Given the description of an element on the screen output the (x, y) to click on. 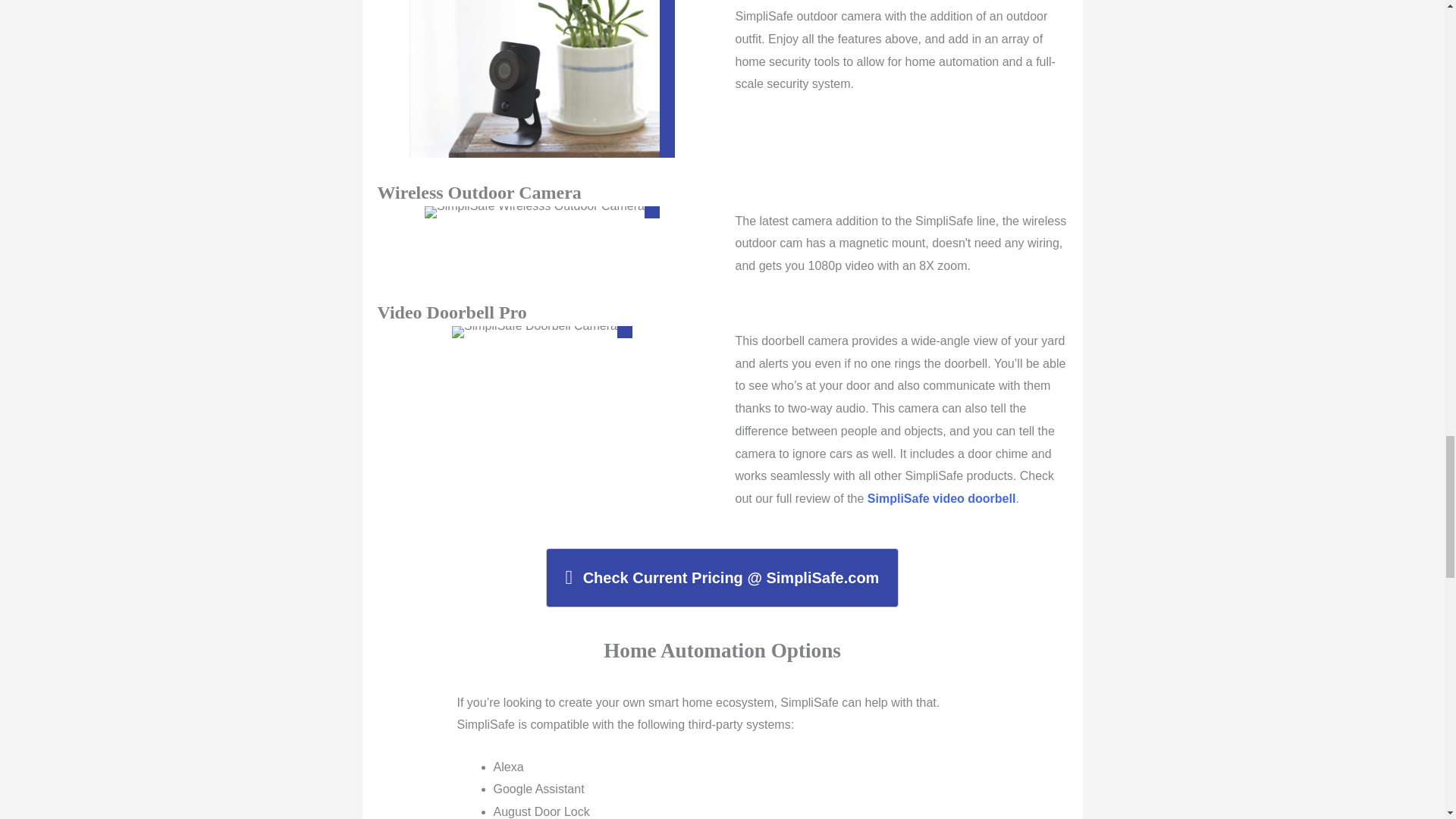
SimpliSafe Wirelesss Outdoor Camera (542, 212)
SimpliCam from SimpliSafe (542, 79)
SimpliSafe Doorbell Camera (541, 331)
